Given the description of an element on the screen output the (x, y) to click on. 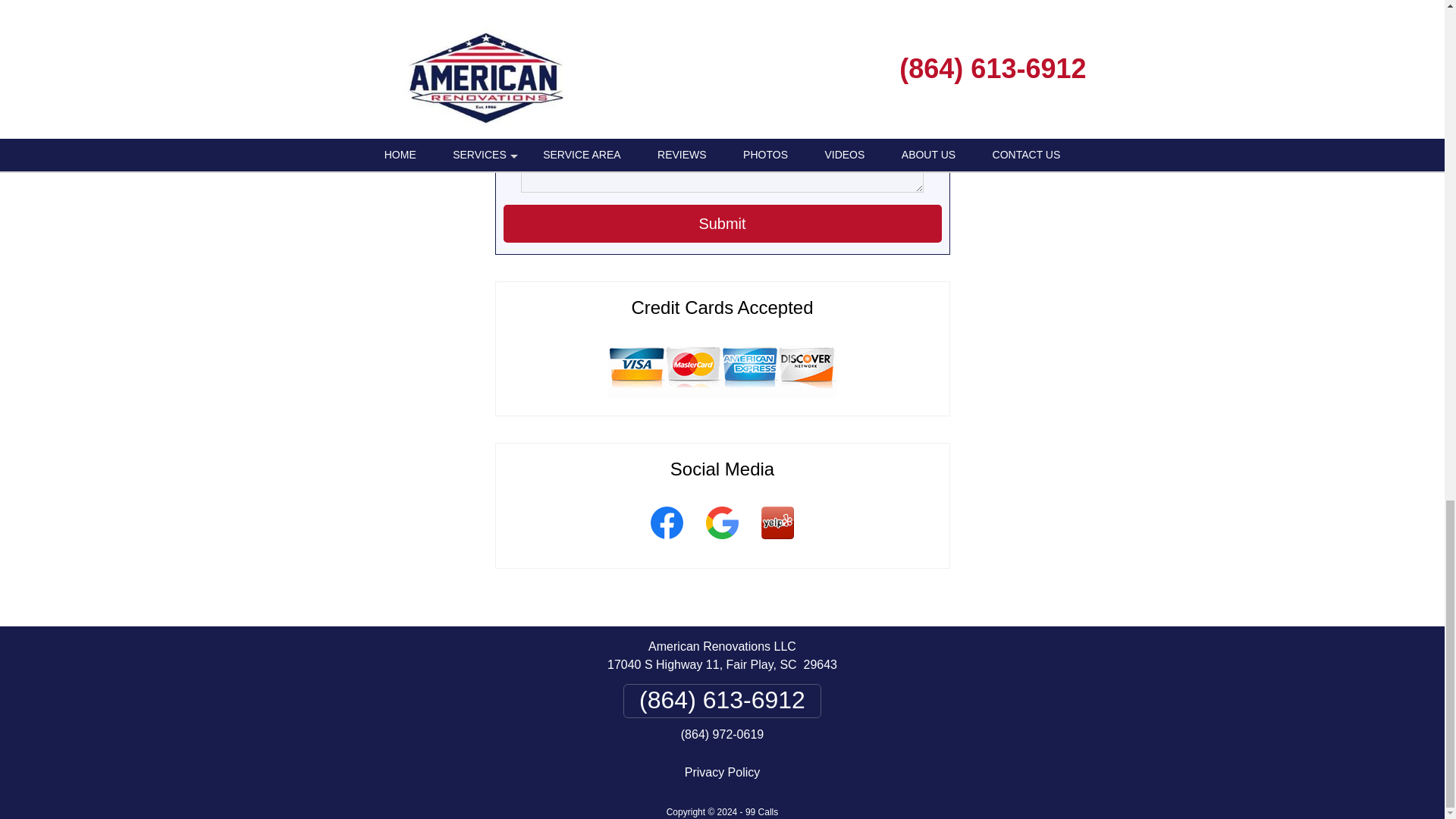
Yelp (777, 541)
Google (721, 541)
Facebook (666, 541)
